Given the description of an element on the screen output the (x, y) to click on. 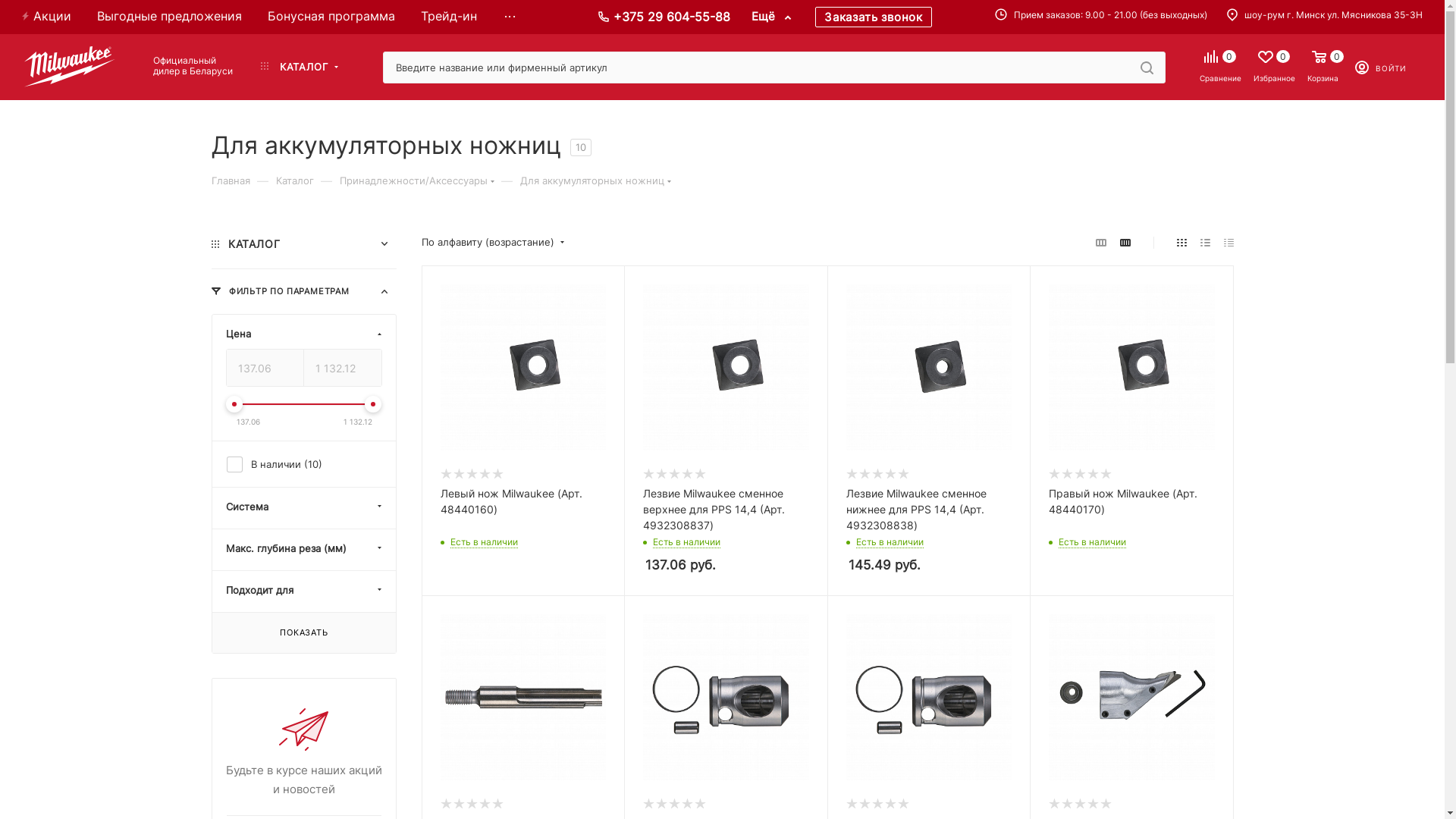
Y Element type: text (4, 4)
+375 29 604-55-88 Element type: text (669, 16)
